Given the description of an element on the screen output the (x, y) to click on. 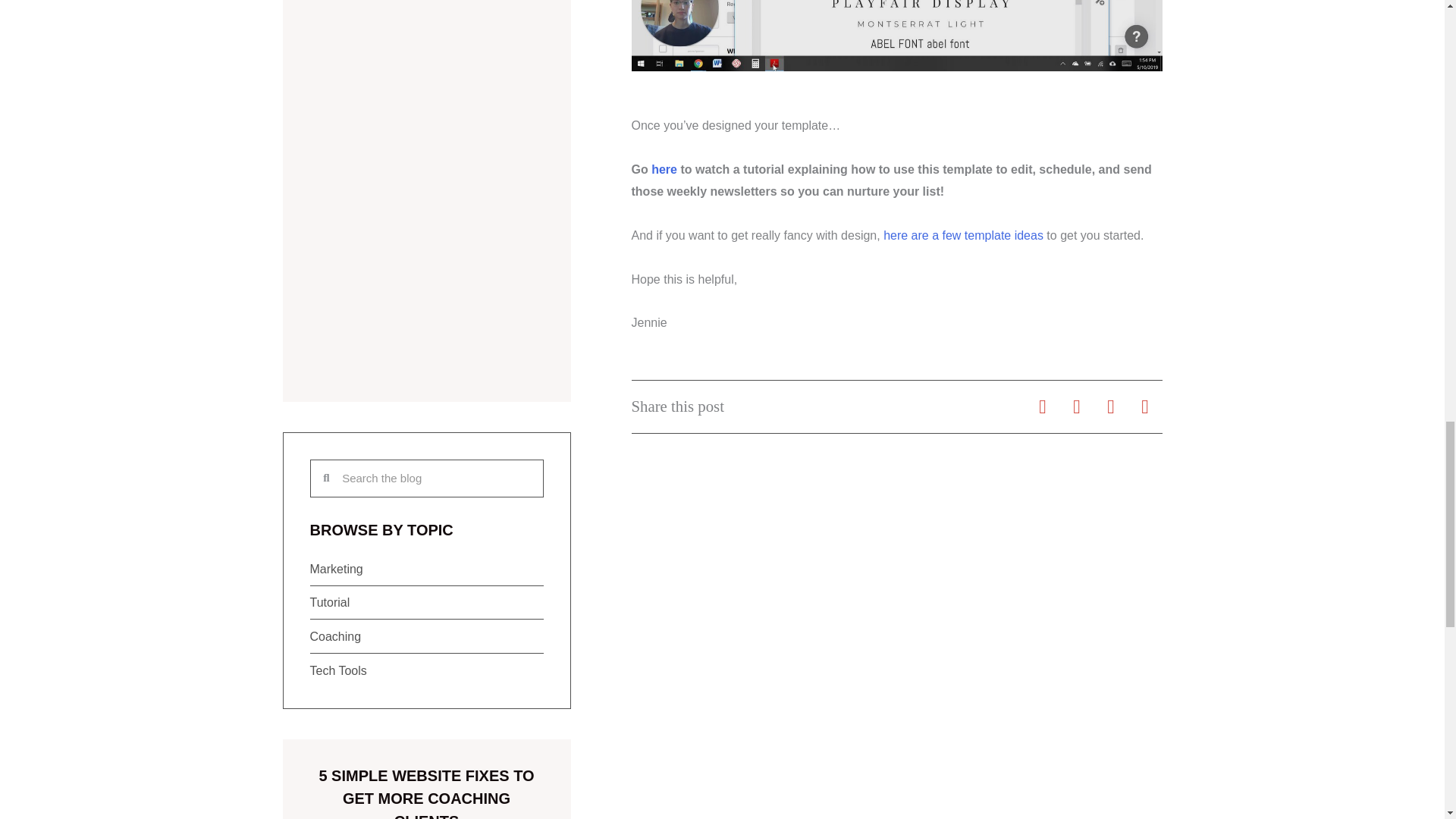
Coaching (425, 636)
here (663, 169)
here are a few template ideas (963, 235)
Marketing (425, 568)
Tech Tools (425, 671)
Tutorial (425, 602)
